Given the description of an element on the screen output the (x, y) to click on. 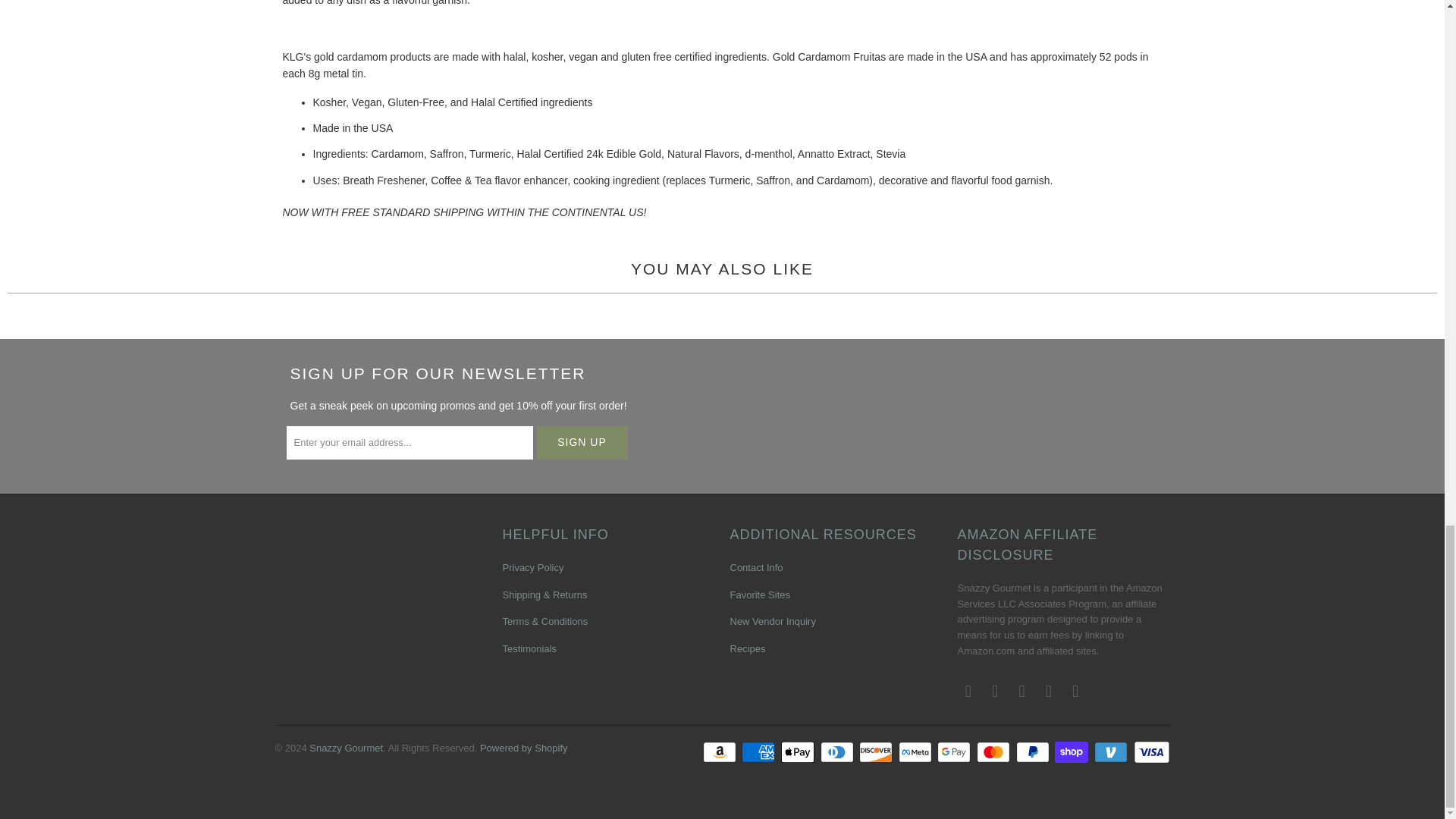
Diners Club (839, 752)
Shop Pay (1072, 752)
Mastercard (994, 752)
Snazzy Gourmet on Pinterest (1047, 691)
American Express (759, 752)
Visa (1150, 752)
Amazon (721, 752)
Google Pay (955, 752)
Apple Pay (798, 752)
Snazzy Gourmet on YouTube (1021, 691)
Meta Pay (916, 752)
Venmo (1112, 752)
PayPal (1034, 752)
Snazzy Gourmet on Facebook (995, 691)
Discover (877, 752)
